Given the description of an element on the screen output the (x, y) to click on. 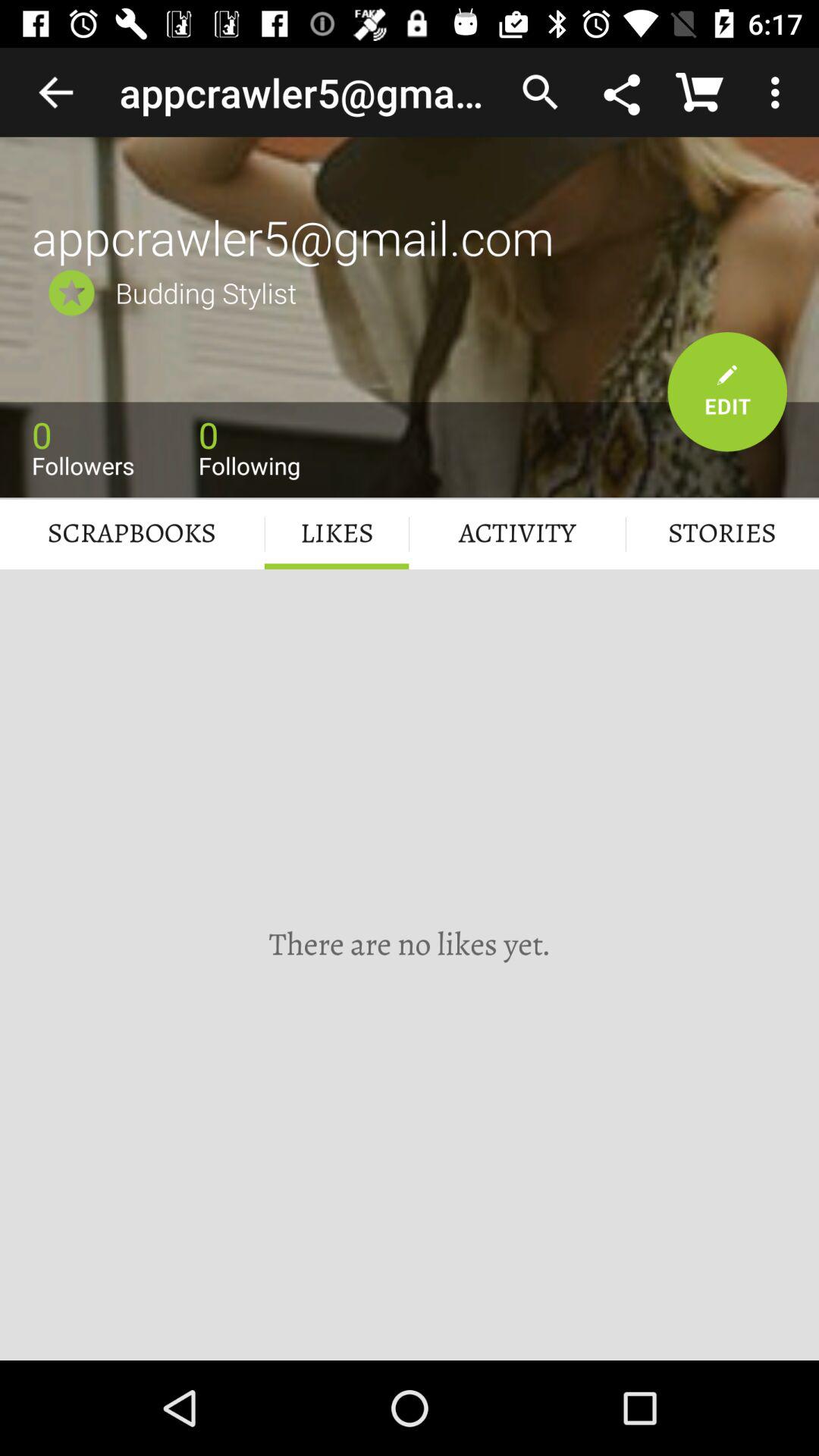
share (623, 91)
